Given the description of an element on the screen output the (x, y) to click on. 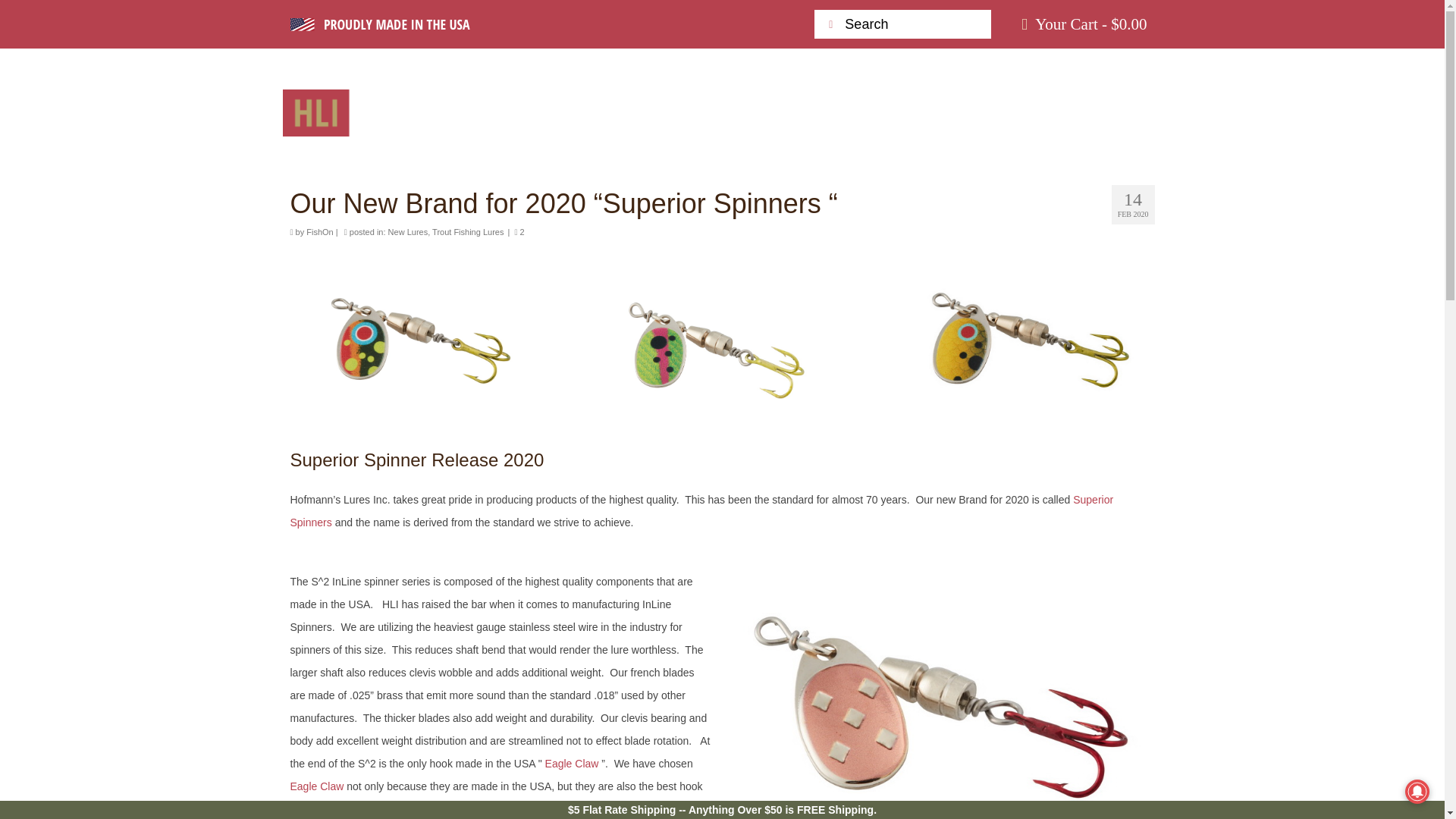
SHOP (622, 94)
View your shopping cart (1083, 24)
MY ACCOUNT (659, 131)
OUR STORY (975, 94)
FishOn (319, 231)
New Lures (408, 231)
NEWS (708, 94)
CONTACT US (828, 94)
Inline Spinners -Trout Series "Brook" (425, 336)
Hofmann's Lures Inc. (420, 112)
